Given the description of an element on the screen output the (x, y) to click on. 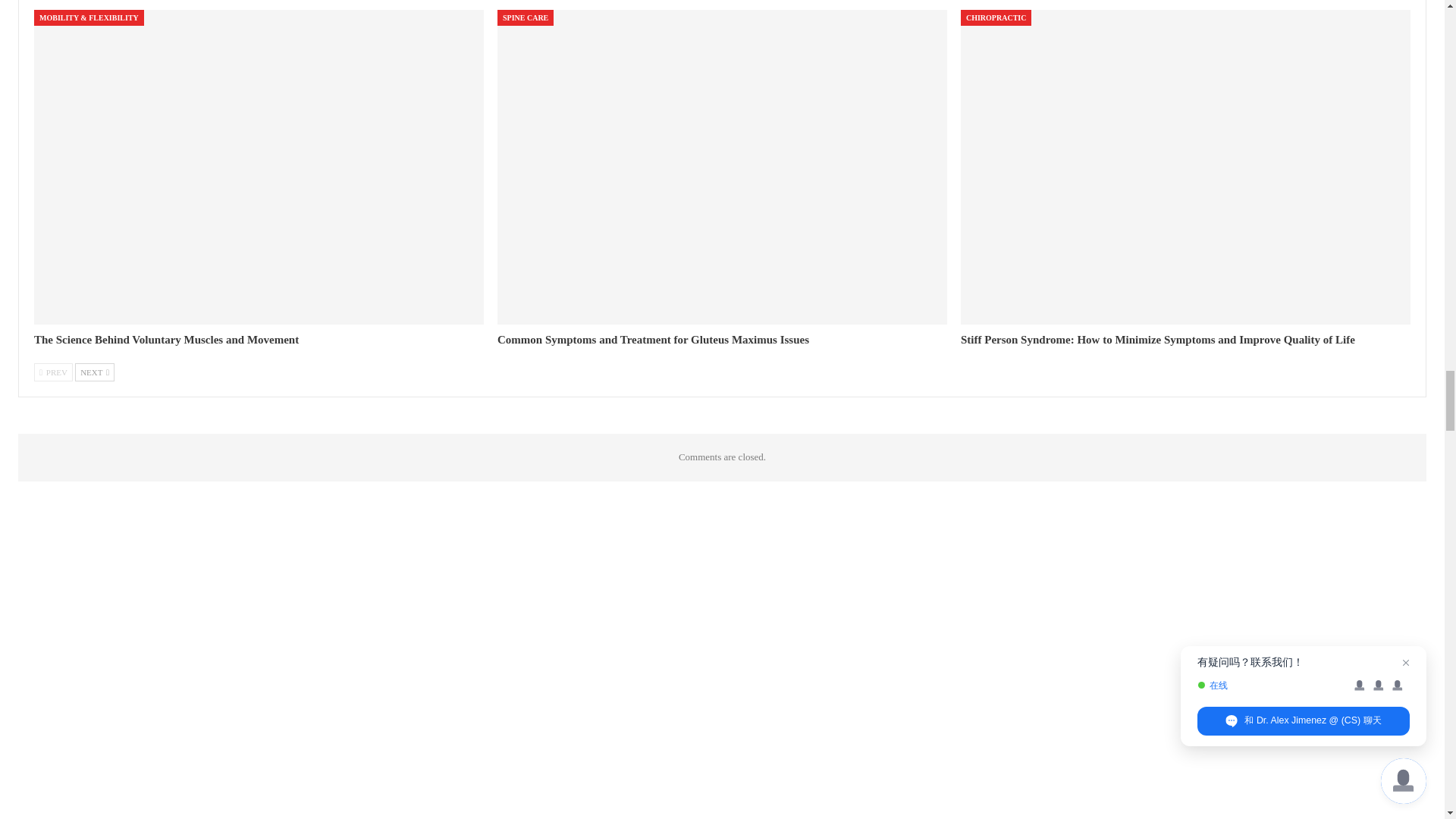
Common Symptoms and Treatment for Gluteus Maximus Issues (653, 339)
The Science Behind Voluntary Muscles and Movement (165, 339)
